Given the description of an element on the screen output the (x, y) to click on. 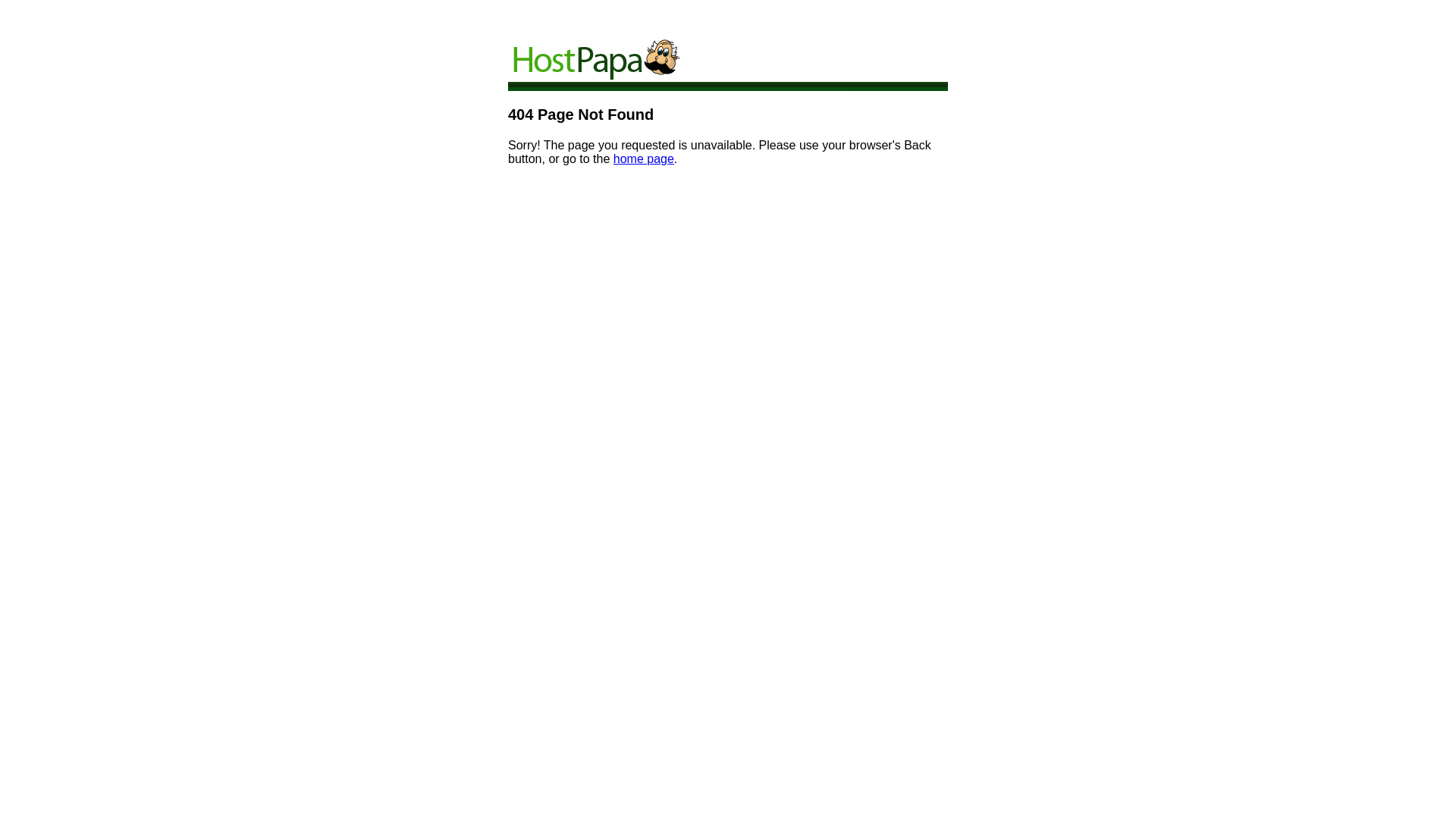
home page Element type: text (643, 158)
